Given the description of an element on the screen output the (x, y) to click on. 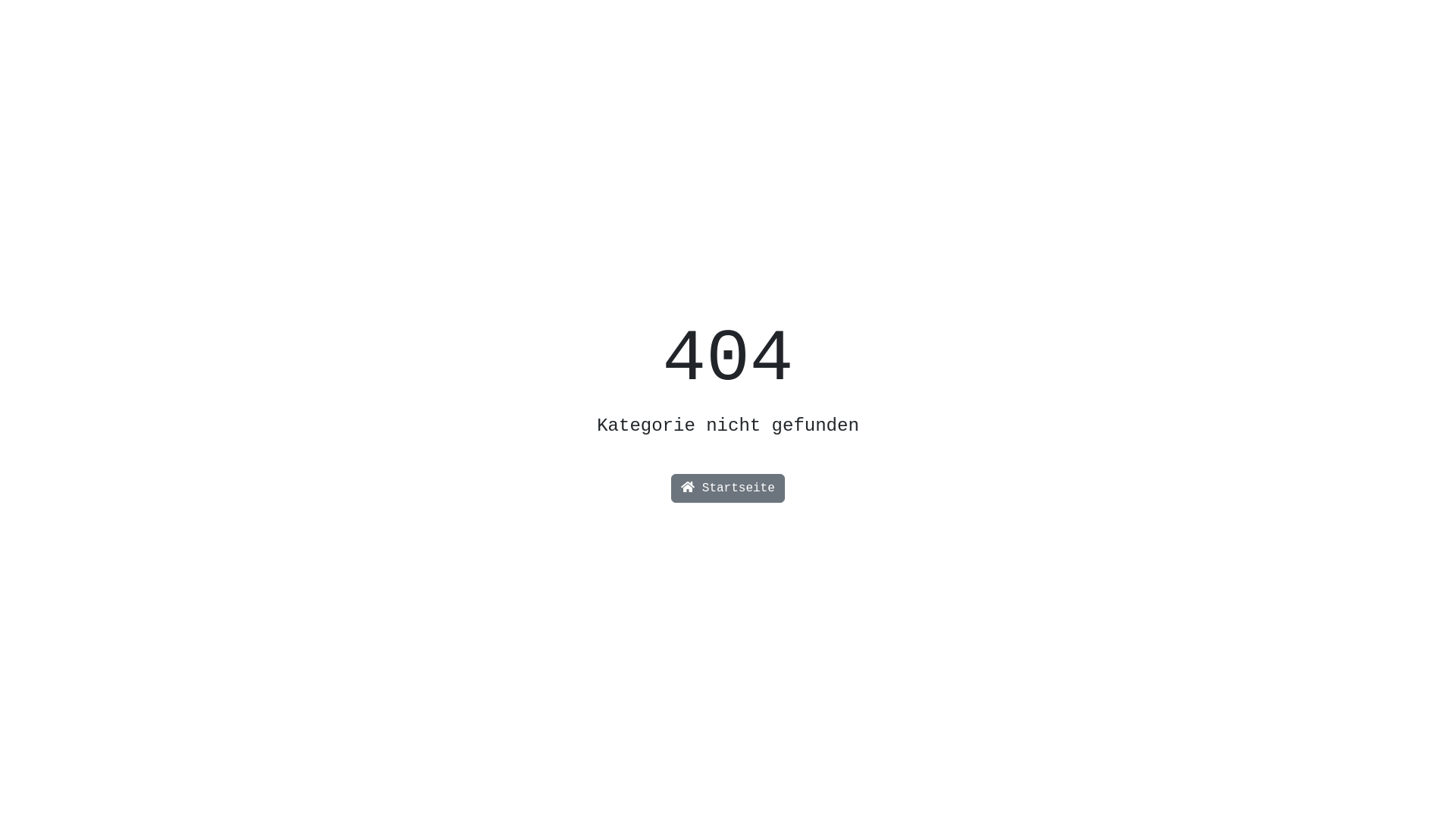
Startseite Element type: text (727, 487)
